Given the description of an element on the screen output the (x, y) to click on. 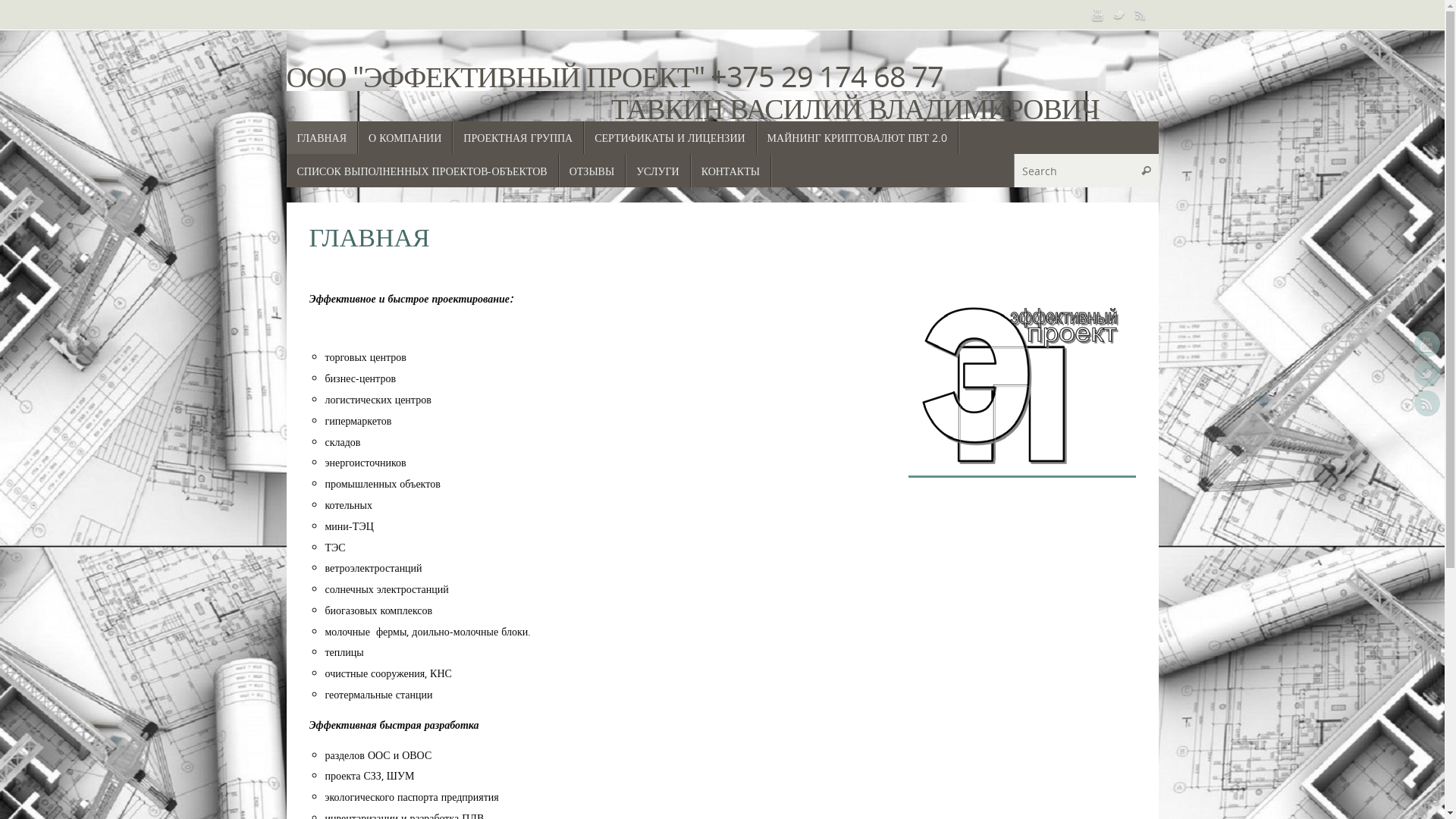
YouTube Element type: hover (1427, 344)
RSS Element type: hover (1140, 14)
Twitter Element type: hover (1427, 373)
YouTube Element type: hover (1097, 14)
RSS Element type: hover (1427, 403)
Twitter Element type: hover (1118, 14)
